Given the description of an element on the screen output the (x, y) to click on. 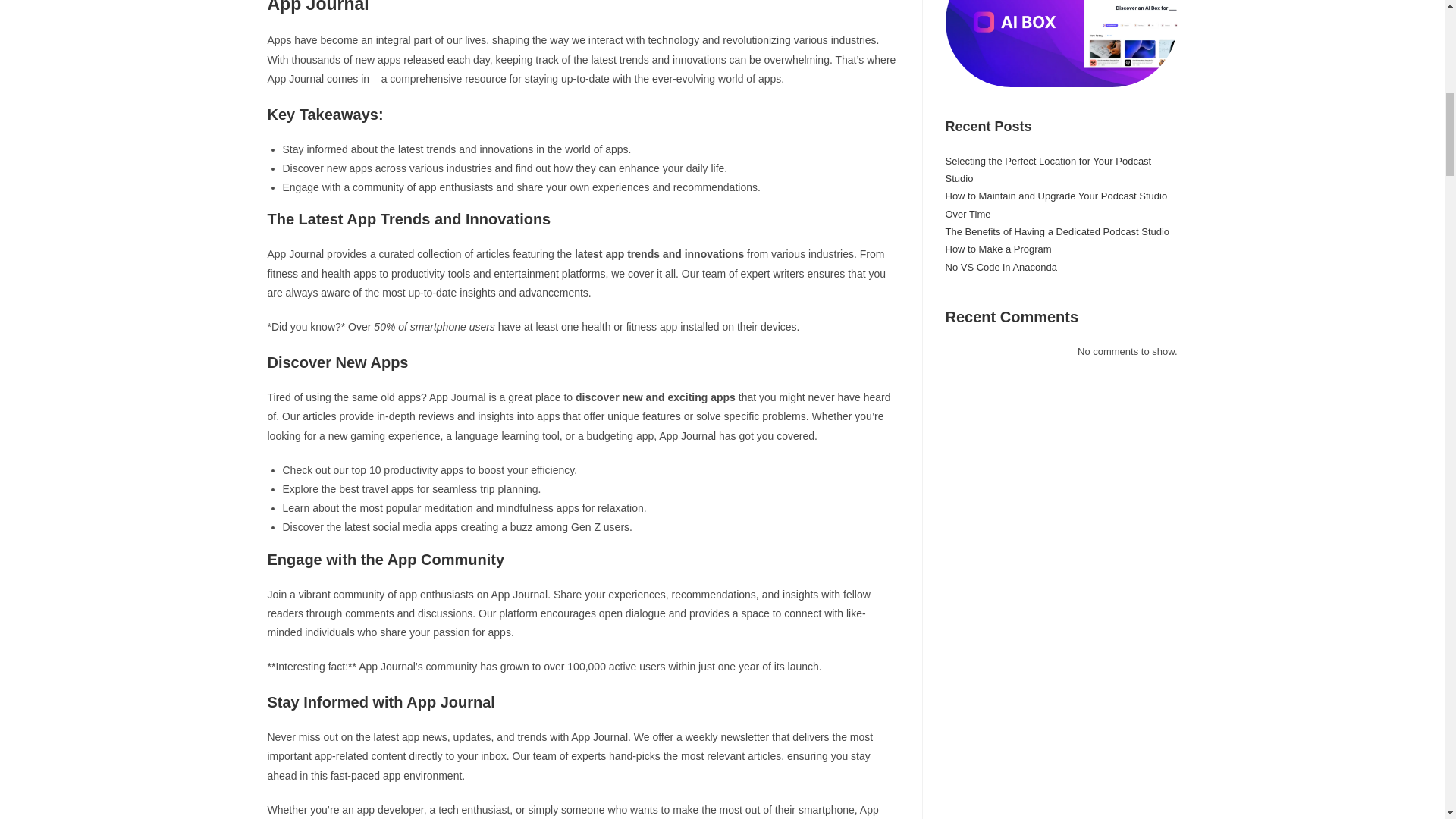
How to Make a Program (997, 248)
No VS Code in Anaconda (1000, 266)
Selecting the Perfect Location for Your Podcast Studio (1047, 168)
The Benefits of Having a Dedicated Podcast Studio (1056, 231)
How to Maintain and Upgrade Your Podcast Studio Over Time (1055, 204)
